Given the description of an element on the screen output the (x, y) to click on. 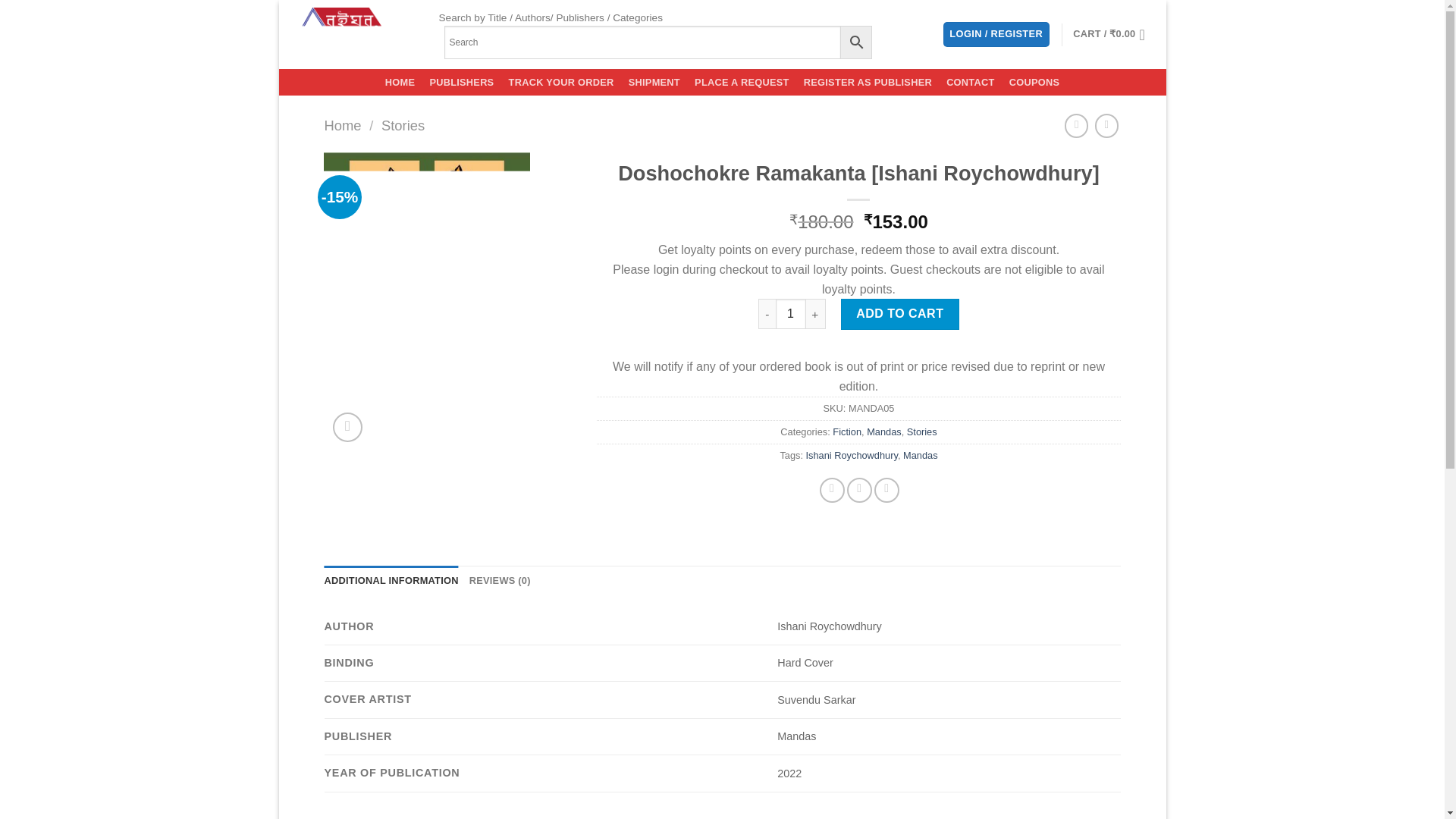
PUBLISHERS (461, 81)
Boighar Dot In - Buy Bengali Books Online (351, 34)
Zoom (347, 427)
Share on Twitter (859, 489)
Home (342, 125)
SHIPMENT (654, 81)
1 (791, 313)
PLACE A REQUEST (741, 81)
Share on Facebook (831, 489)
Fiction (846, 431)
